Given the description of an element on the screen output the (x, y) to click on. 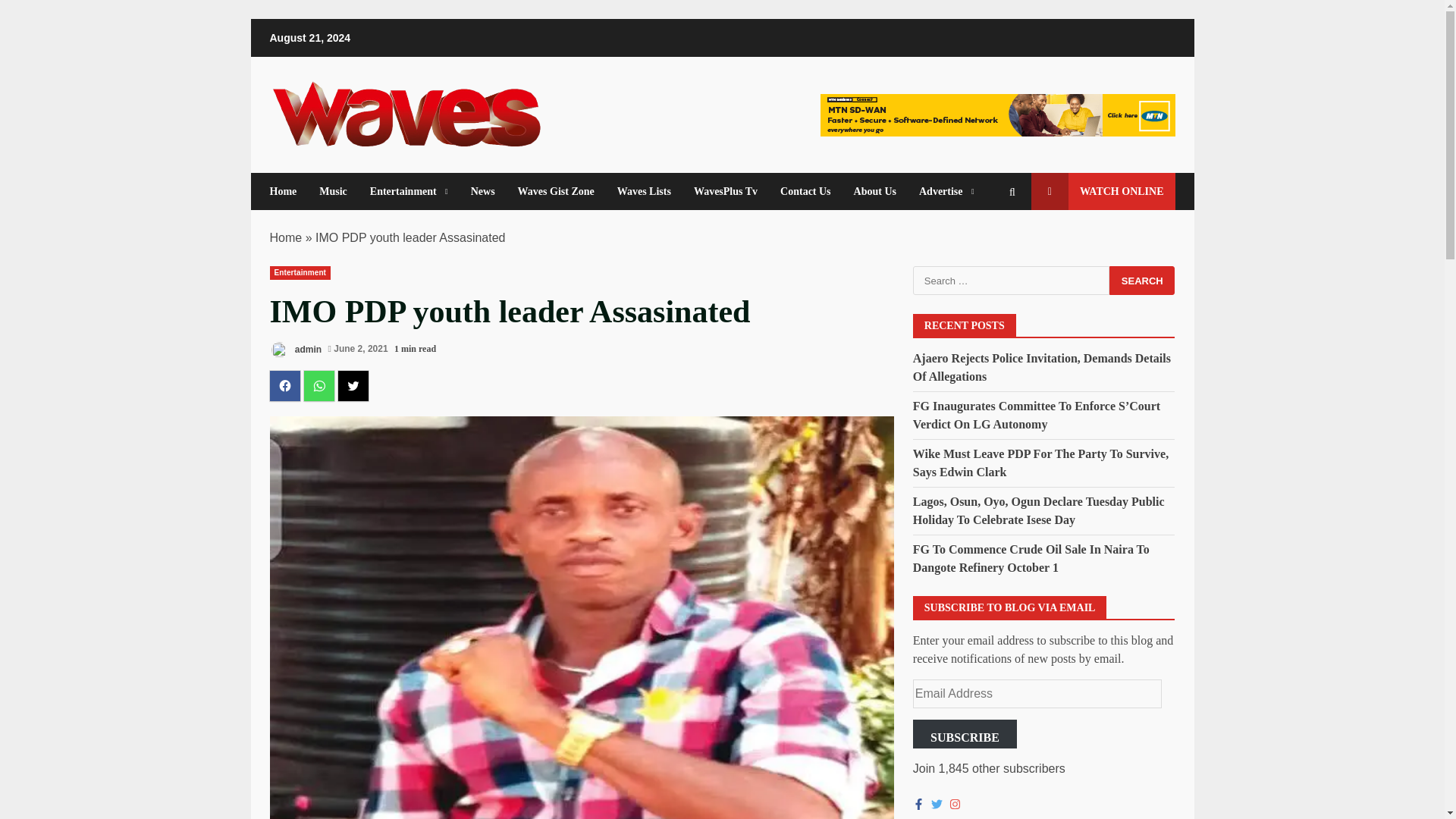
Entertainment (409, 190)
Search (1141, 280)
Click to share on Facebook (284, 386)
admin (295, 349)
Home (285, 237)
Search (984, 243)
About Us (875, 190)
Waves Lists (643, 190)
Advertise (940, 190)
WavesPlus Tv (725, 190)
